Given the description of an element on the screen output the (x, y) to click on. 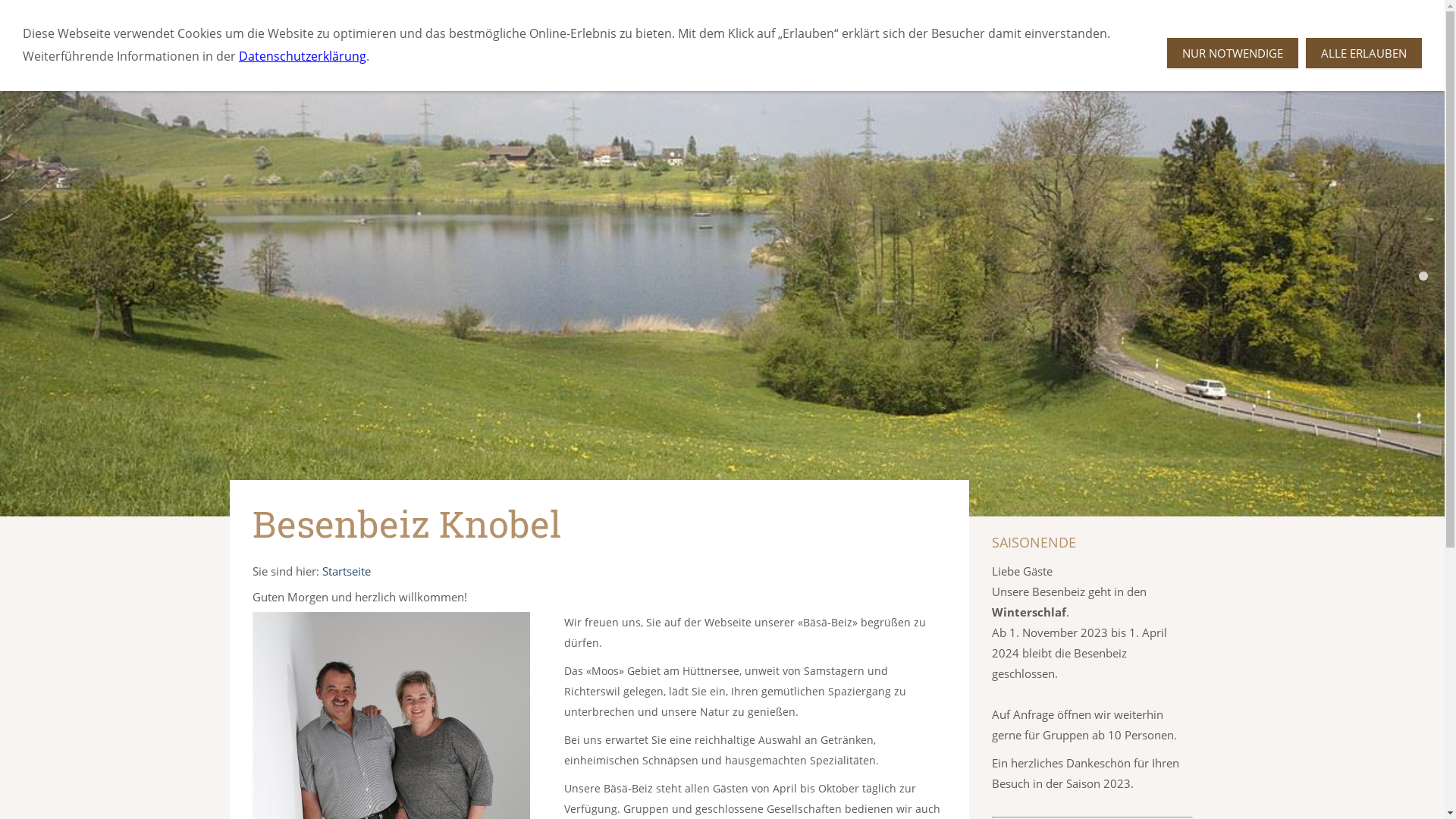
ALLE ERLAUBEN Element type: text (1363, 52)
WEG ZU UNS Element type: text (507, 17)
Startseite Element type: text (345, 570)
NUR NOTWENDIGE Element type: text (1232, 52)
DATENSCHUTZ Element type: text (814, 17)
BILDER GALERIE Element type: text (618, 17)
KONTAKT Element type: text (718, 17)
ANGEBOT Element type: text (413, 17)
